Given the description of an element on the screen output the (x, y) to click on. 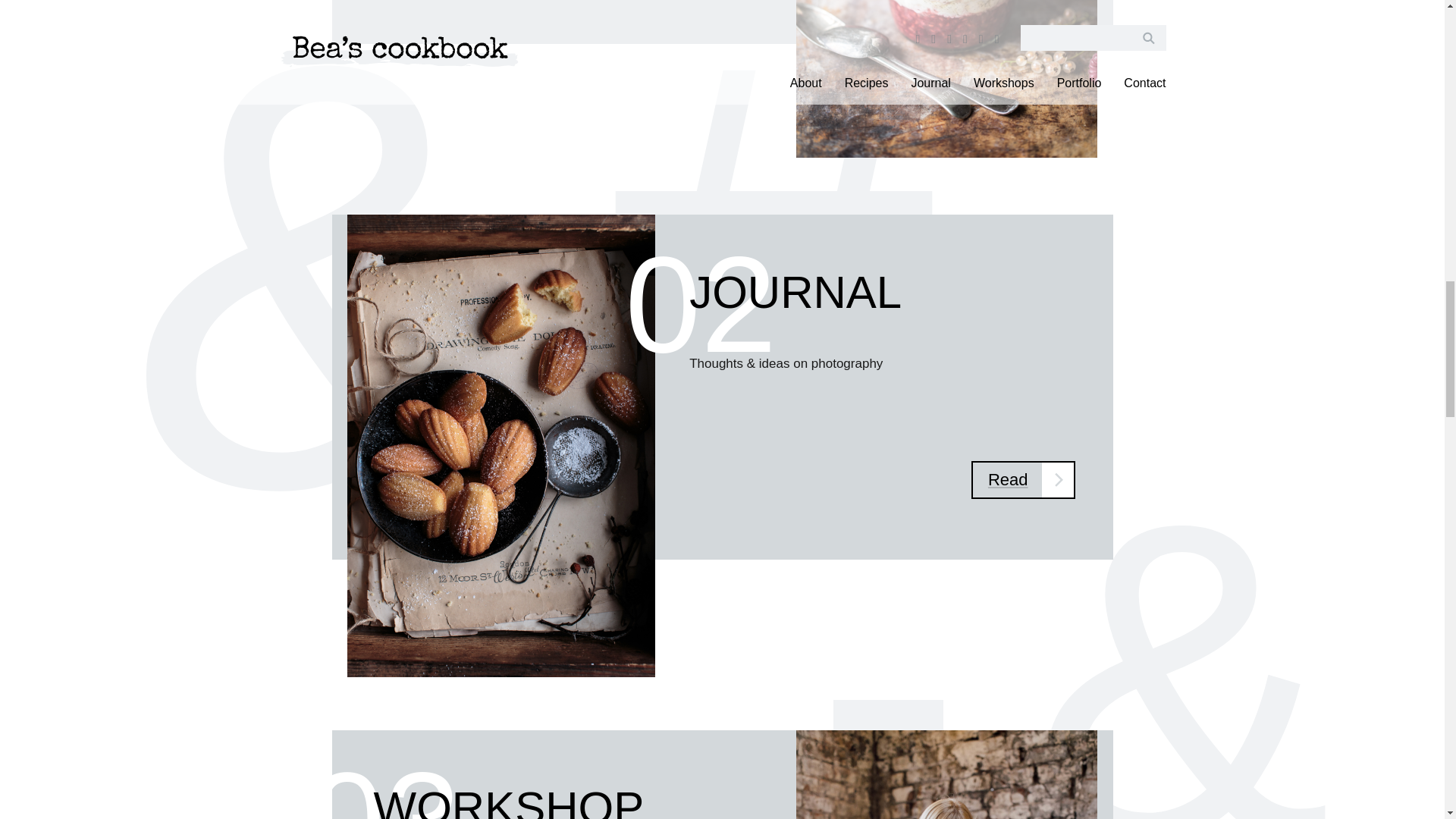
Read (1023, 479)
WORKSHOPS AND EVENTS (507, 800)
JOURNAL (794, 291)
